Given the description of an element on the screen output the (x, y) to click on. 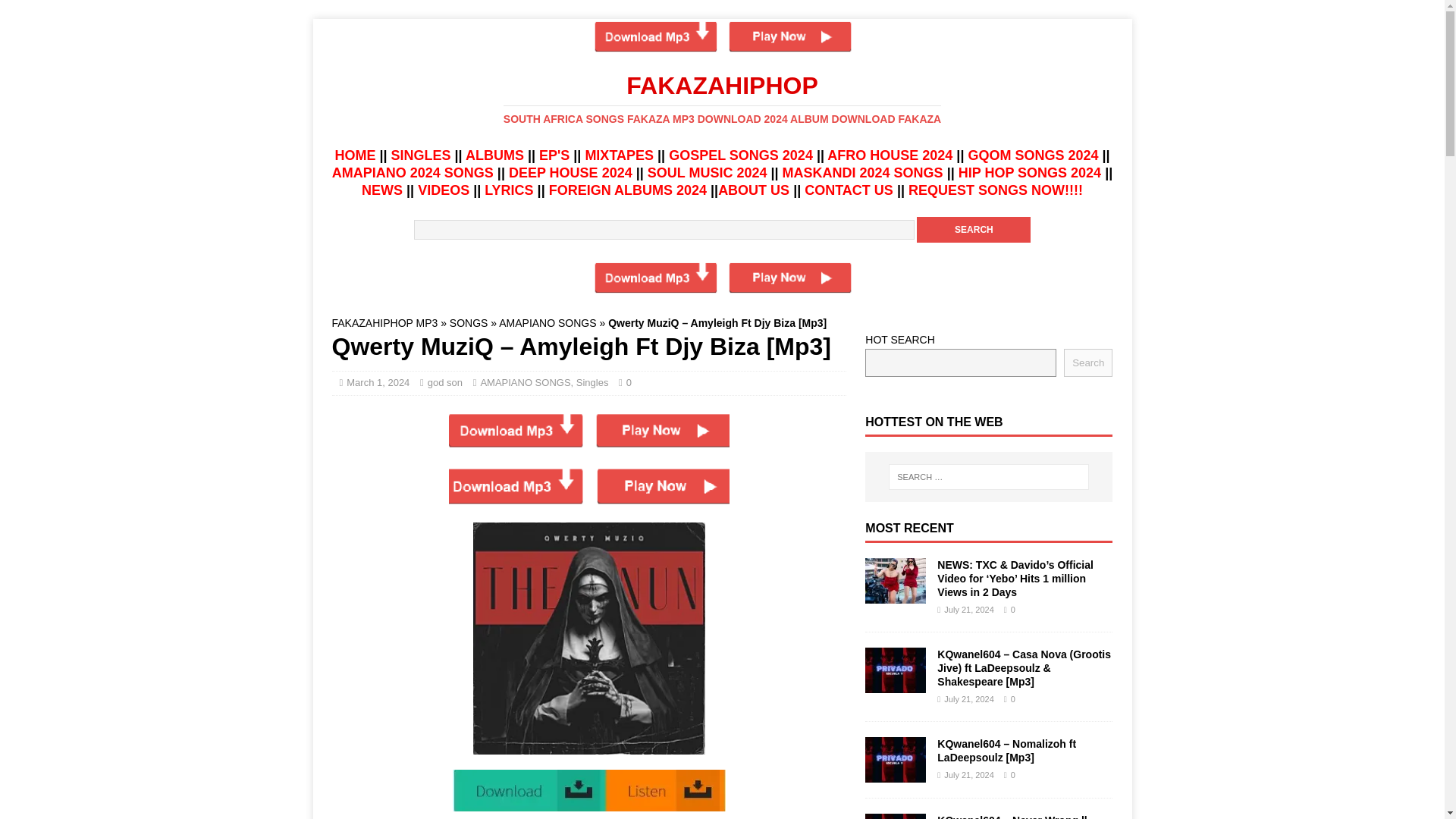
SOUL MUSIC 2024 (707, 172)
LYRICS (508, 190)
NEWS (382, 190)
AMAPIANO SONGS (547, 322)
AFRO HOUSE 2024 (889, 155)
FAKAZAHIPHOP (721, 99)
ABOUT US (753, 190)
DEEP HOUSE 2024 (569, 172)
Singles (592, 382)
GQOM SONGS 2024 (1032, 155)
HOME (354, 155)
AMAPIANO 2024 SONGS (412, 172)
EP'S (553, 155)
FOREIGN ALBUMS 2024 (627, 190)
